Given the description of an element on the screen output the (x, y) to click on. 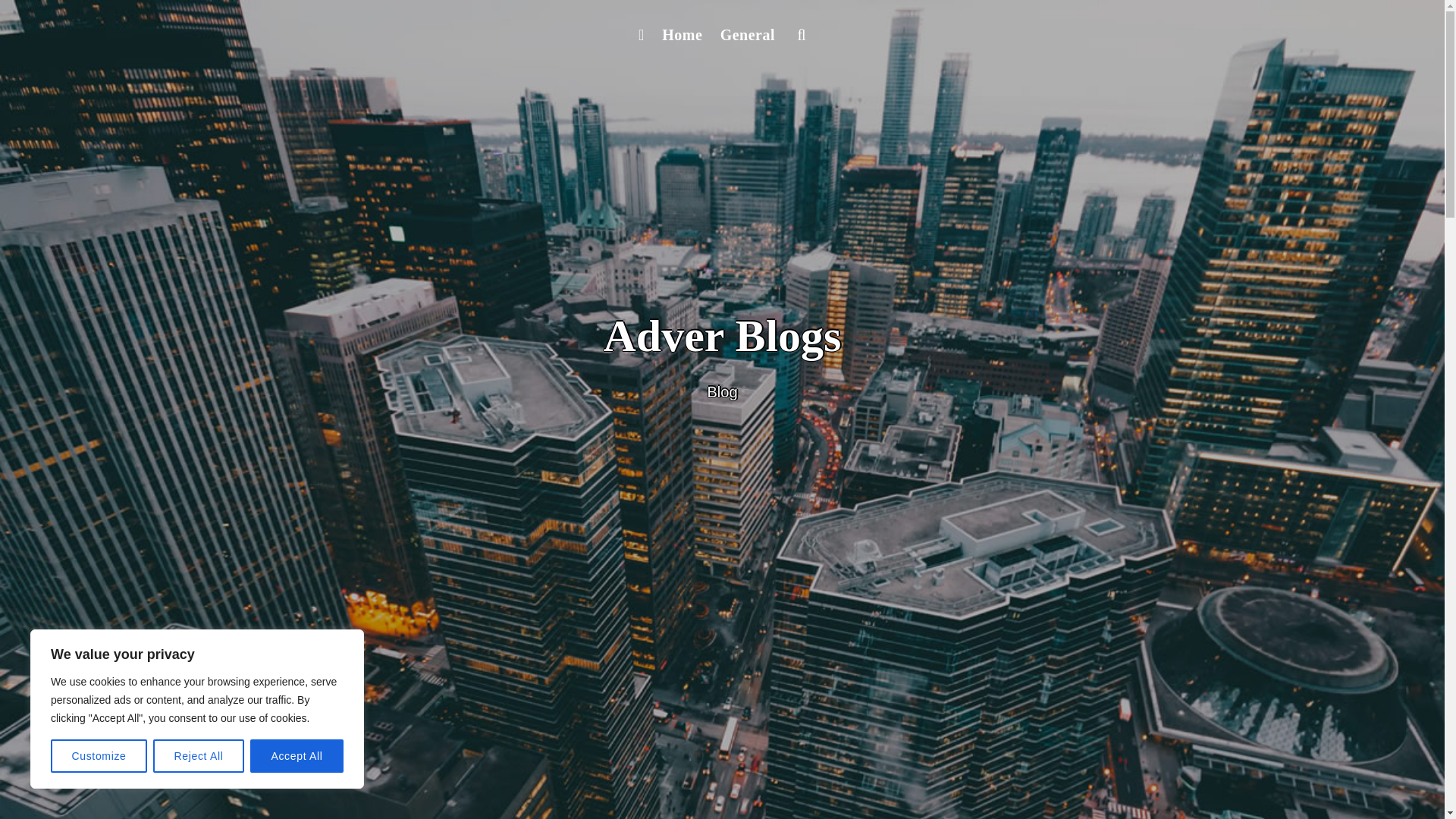
Customize (98, 756)
Home (681, 35)
Adver Blogs (722, 336)
General (747, 35)
Accept All (296, 756)
Reject All (198, 756)
